Given the description of an element on the screen output the (x, y) to click on. 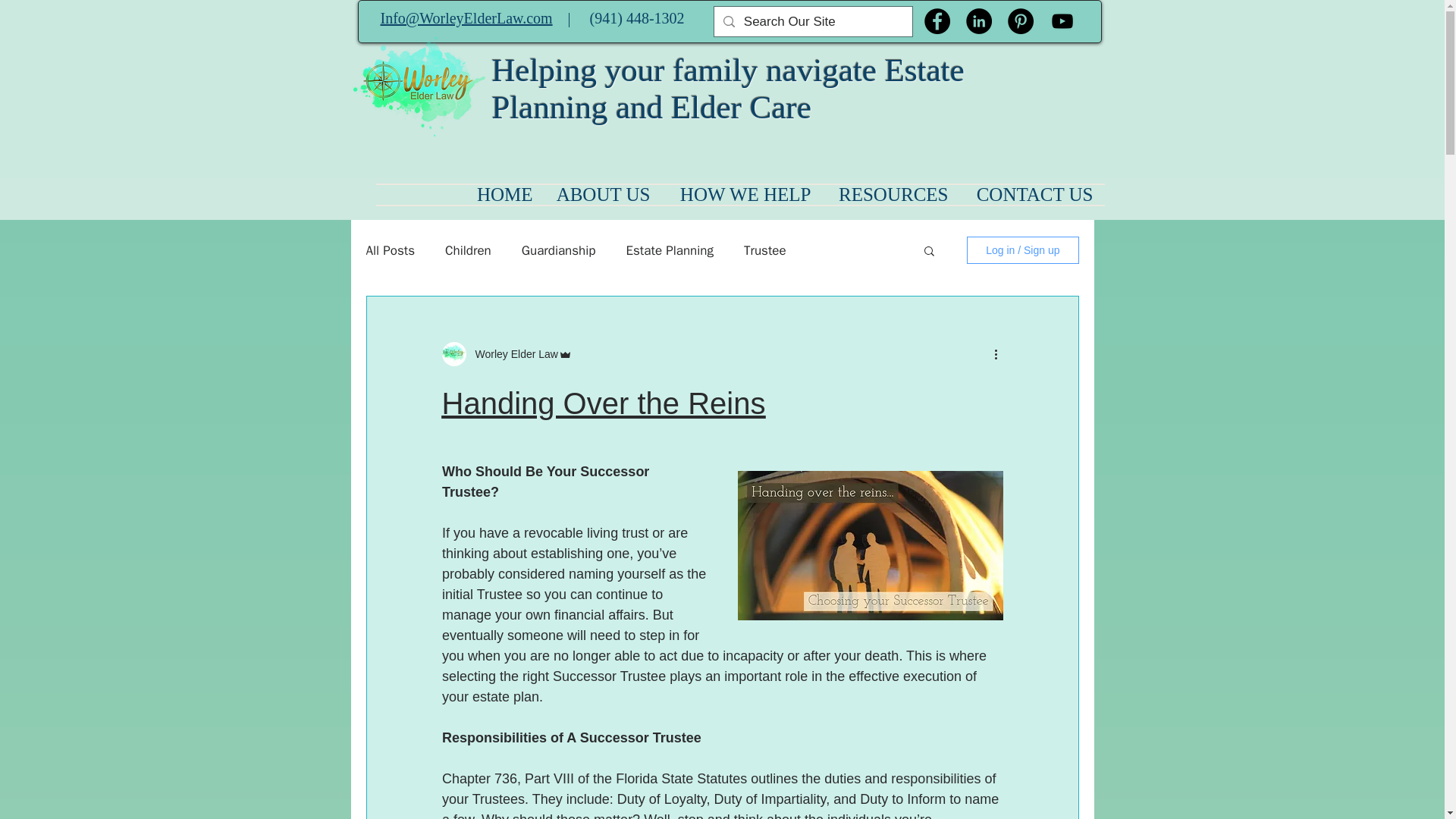
Trustee (765, 249)
Worley Elder Law (511, 353)
CONTACT US (1032, 194)
HOW WE HELP (741, 194)
ABOUT US (603, 194)
Children (468, 249)
Guardianship (558, 249)
RESOURCES (890, 194)
Helping your family navigate Estate Planning and Elder Care (727, 88)
HOME (502, 194)
Estate Planning (669, 249)
All Posts (389, 249)
